Given the description of an element on the screen output the (x, y) to click on. 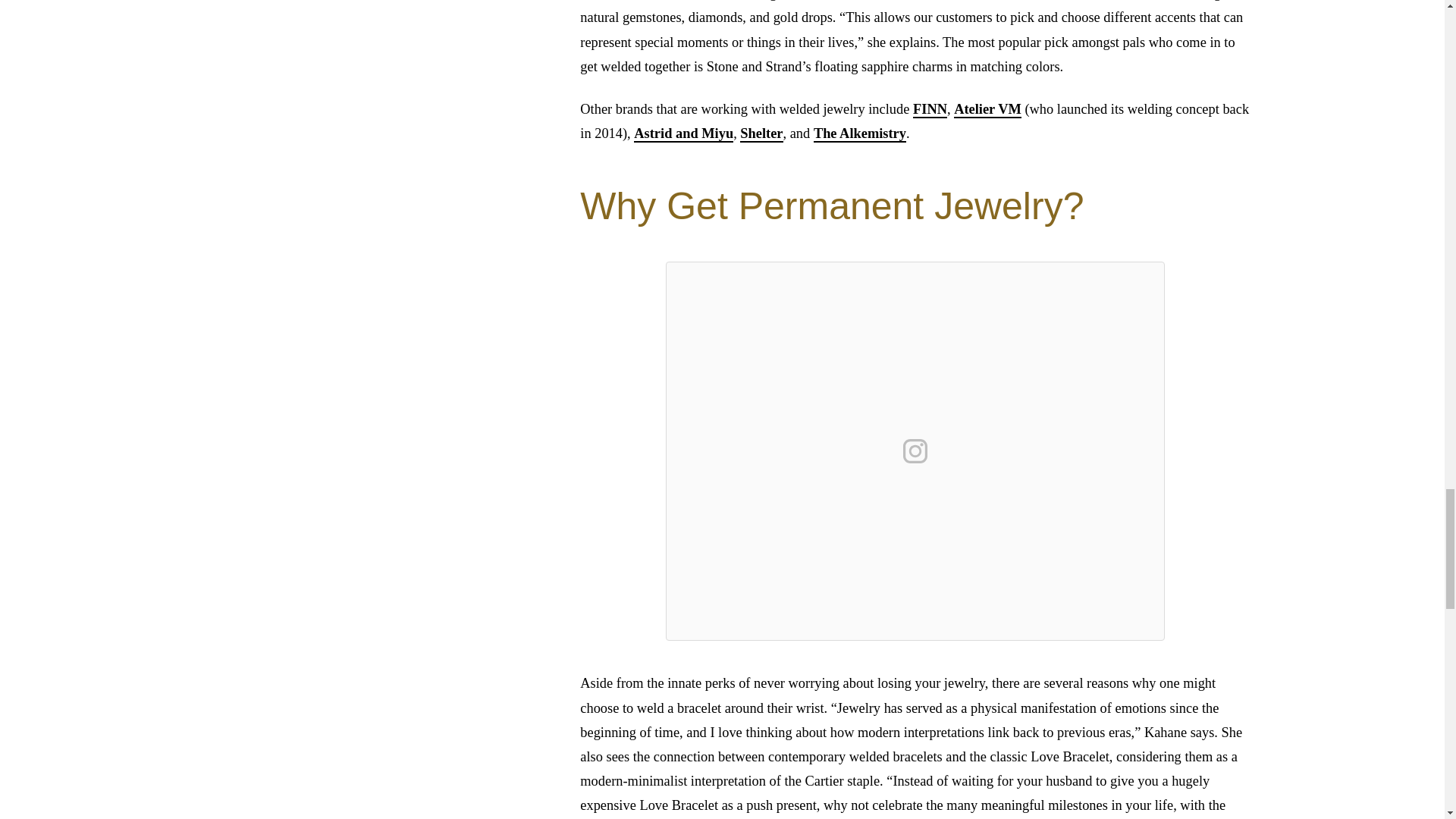
Astrid and Miyu (683, 134)
Atelier VM (987, 109)
View on Instagram (914, 451)
The Alkemistry (859, 134)
FINN (929, 109)
Shelter (761, 134)
